Given the description of an element on the screen output the (x, y) to click on. 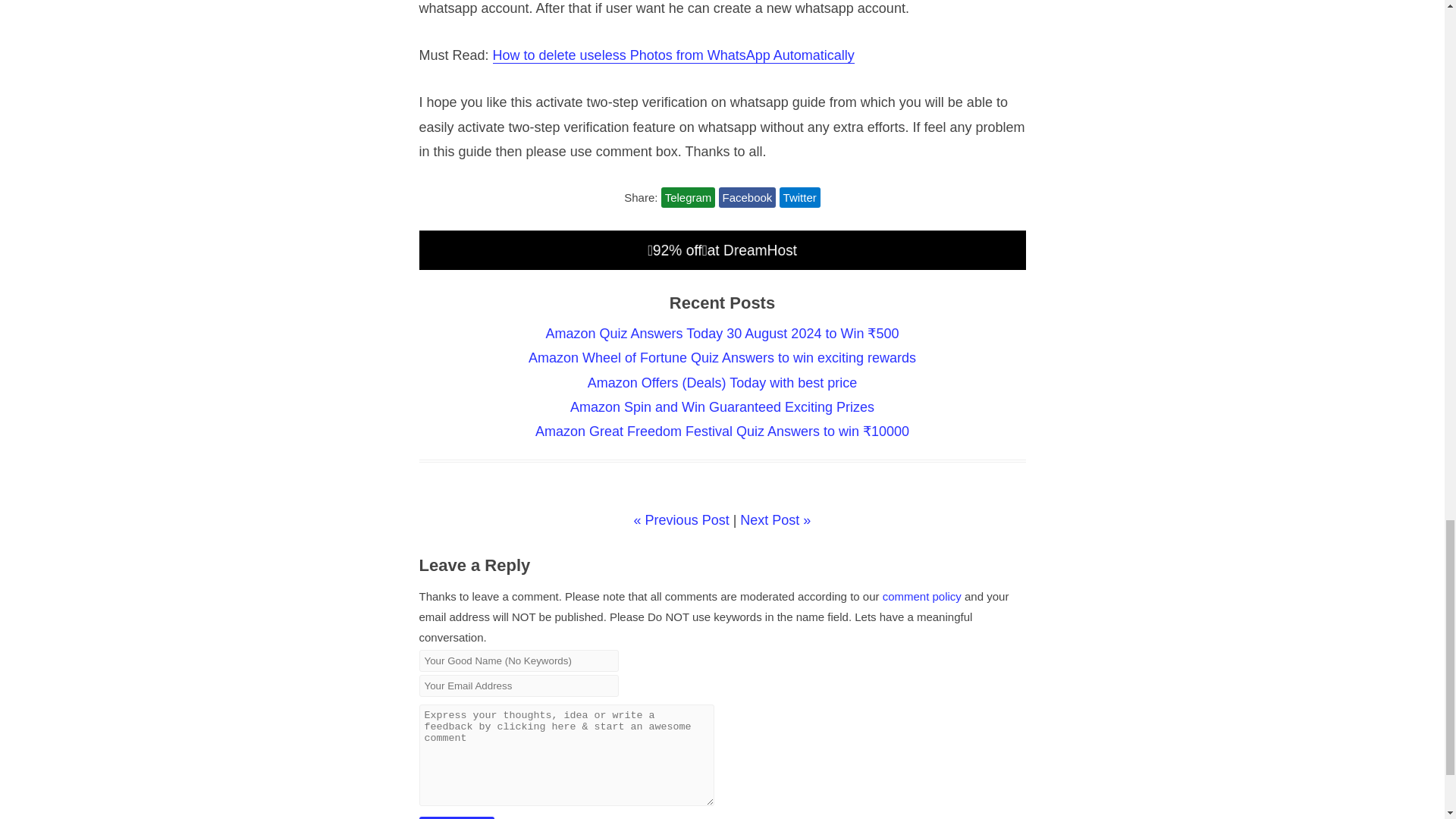
Amazon Spin and Win Guaranteed Exciting Prizes (722, 406)
Post Comment (456, 817)
Share on Telegram (688, 196)
comment policy (921, 595)
Tweet on Twitter (799, 196)
Telegram (688, 196)
Twitter (799, 196)
How to delete useless Photos from WhatsApp Automatically (673, 55)
Facebook (747, 196)
Amazon Wheel of Fortune Quiz Answers to win exciting rewards (721, 357)
